Given the description of an element on the screen output the (x, y) to click on. 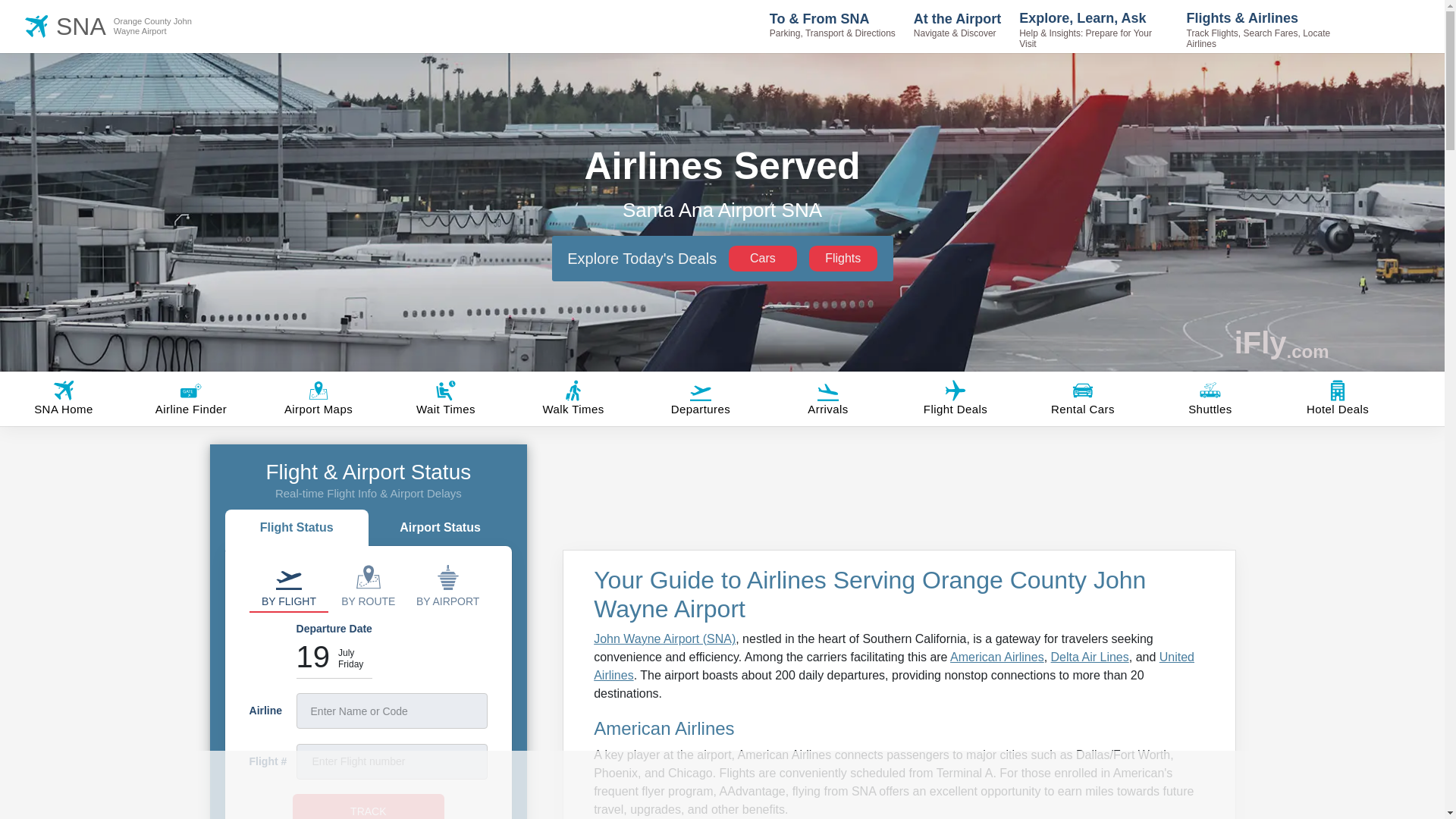
By Flight (135, 26)
Flights (288, 584)
iFly.com (843, 258)
By Airport (1281, 342)
Airport Status (447, 584)
Flight Status (440, 529)
By Route (296, 529)
Cars (368, 584)
